Given the description of an element on the screen output the (x, y) to click on. 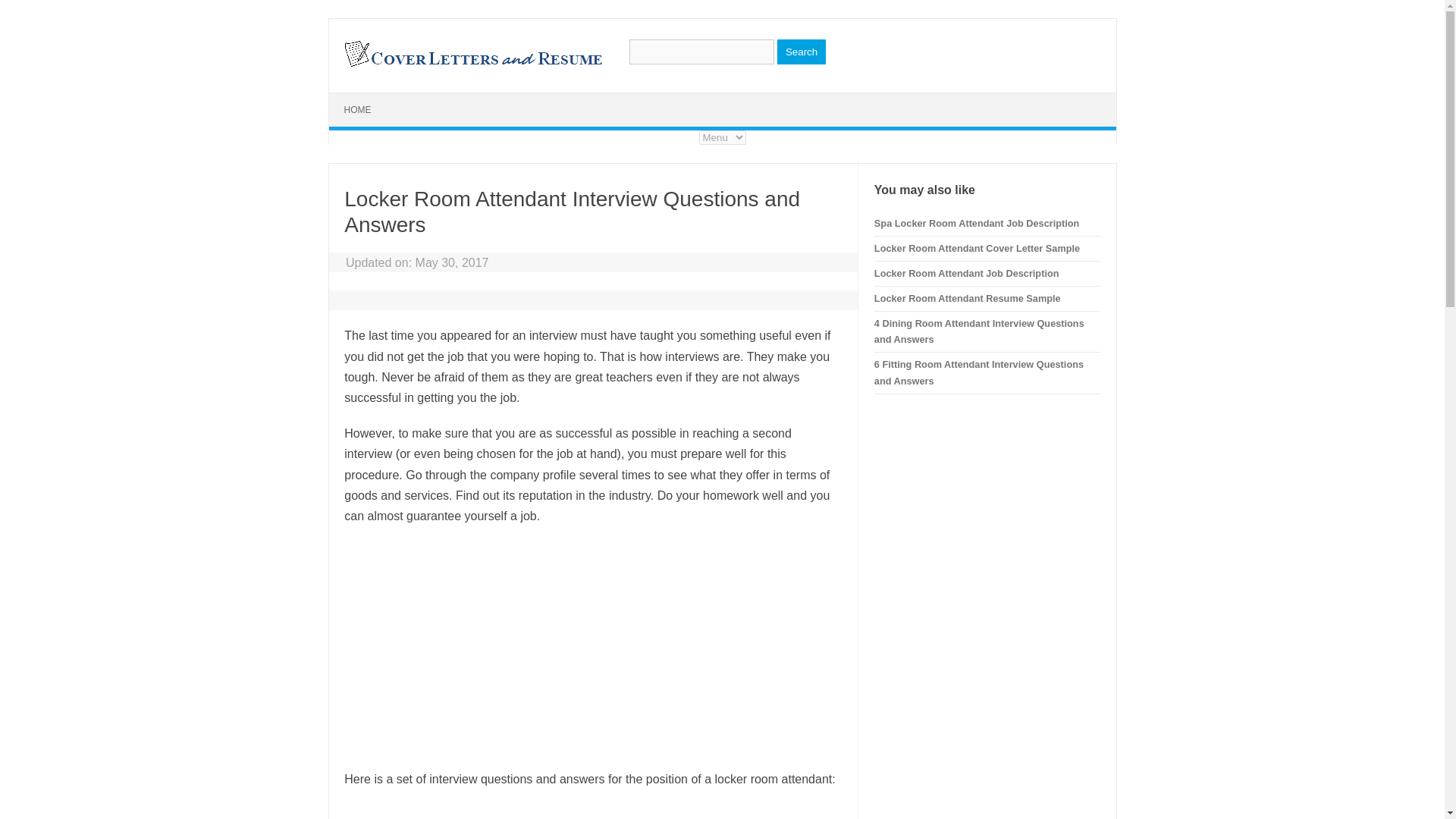
Search (801, 51)
6 Fitting Room Attendant Interview Questions and Answers (979, 372)
Locker Room Attendant Cover Letter Sample (977, 247)
Locker Room Attendant Job Description (967, 273)
HOME (358, 109)
Spa Locker Room Attendant Job Description (977, 223)
Advertisement (592, 647)
Cover Letters and Resume Samples (471, 65)
Locker Room Attendant Resume Sample (968, 297)
